Given the description of an element on the screen output the (x, y) to click on. 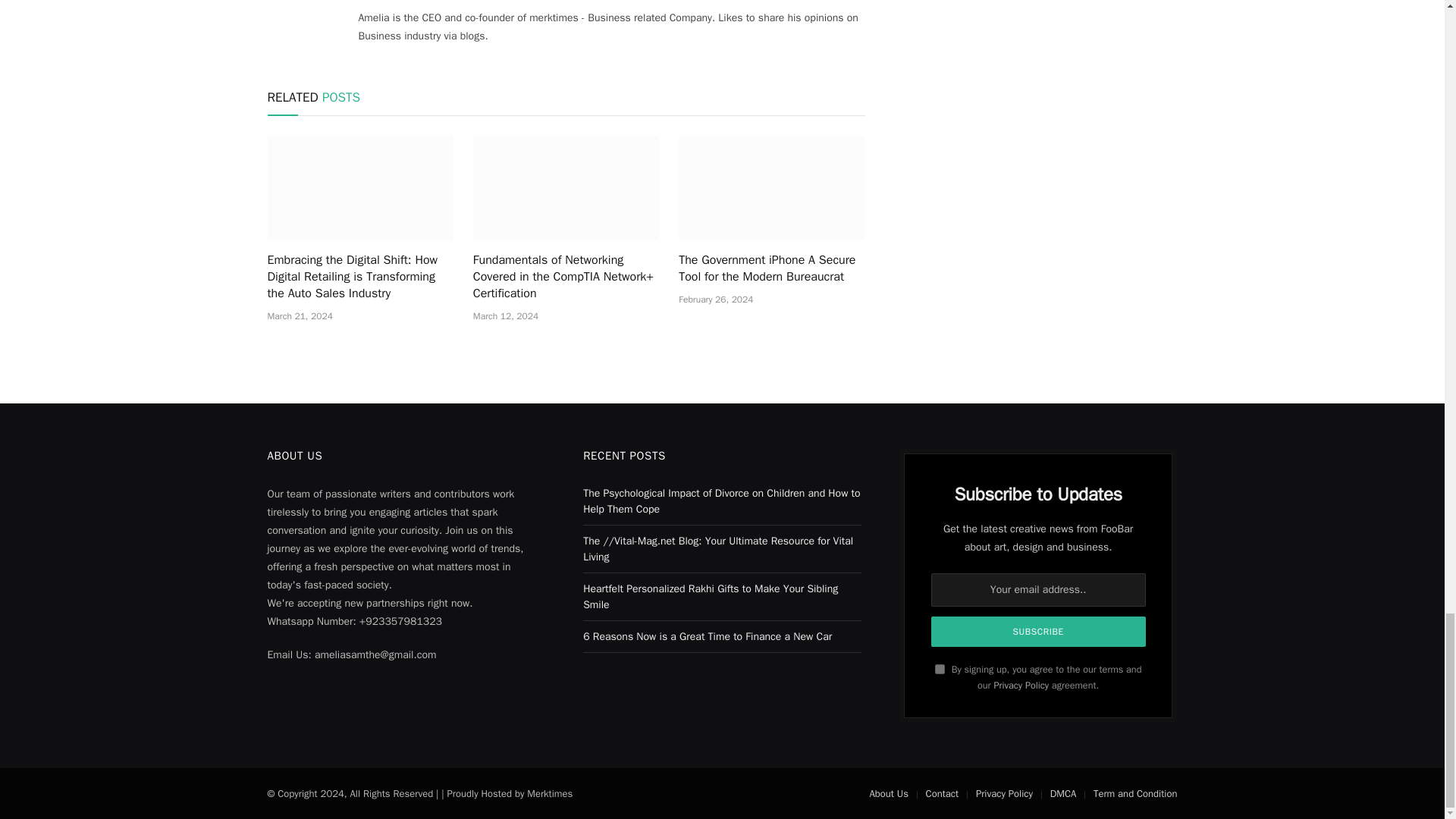
Subscribe (1038, 631)
Privacy Policy (1020, 685)
on (939, 669)
6 Reasons Now is a Great Time to Finance a New Car (707, 635)
Subscribe (1038, 631)
About Us (888, 793)
